Given the description of an element on the screen output the (x, y) to click on. 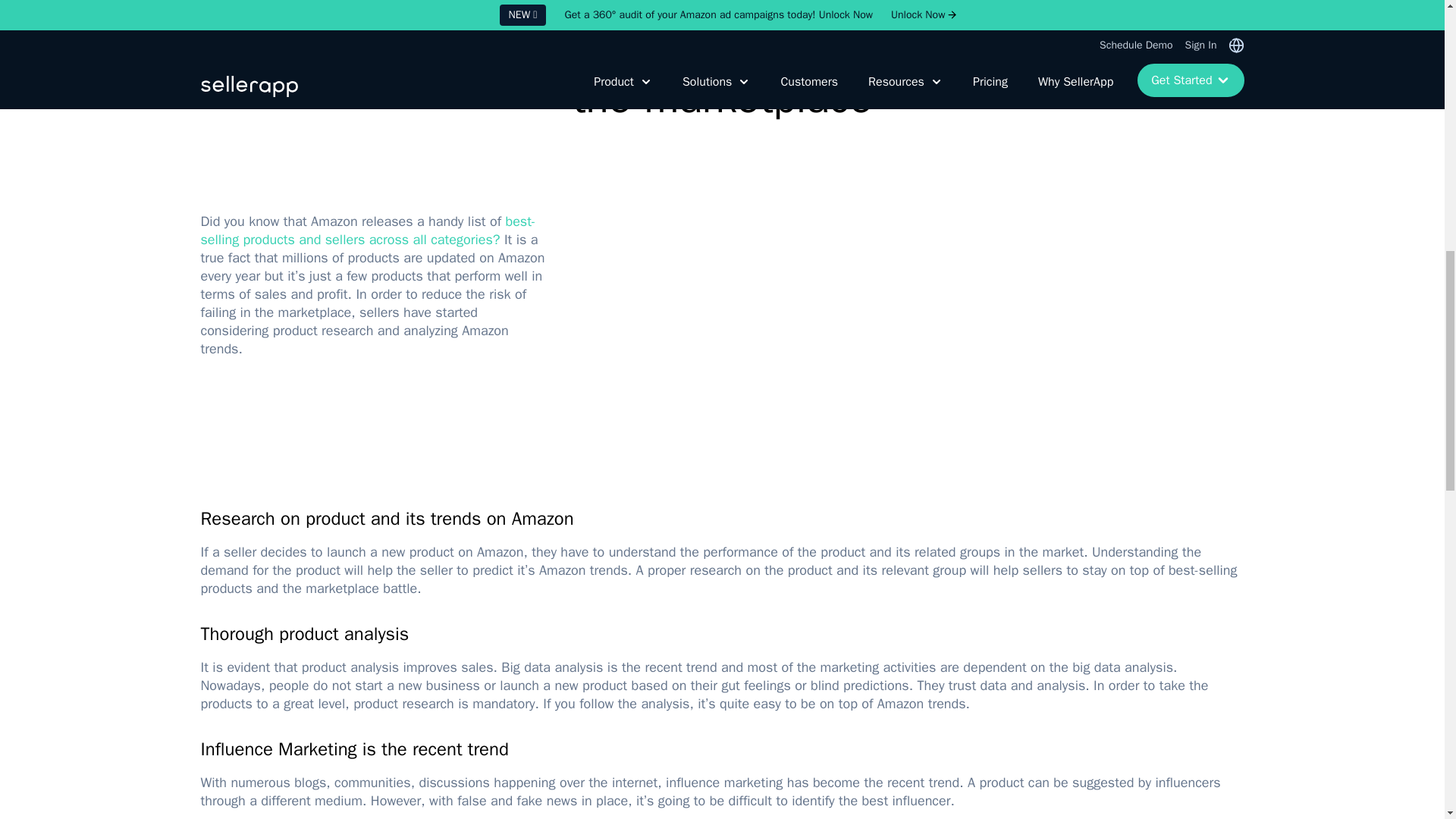
best-selling products and sellers across all categories? (367, 230)
